Given the description of an element on the screen output the (x, y) to click on. 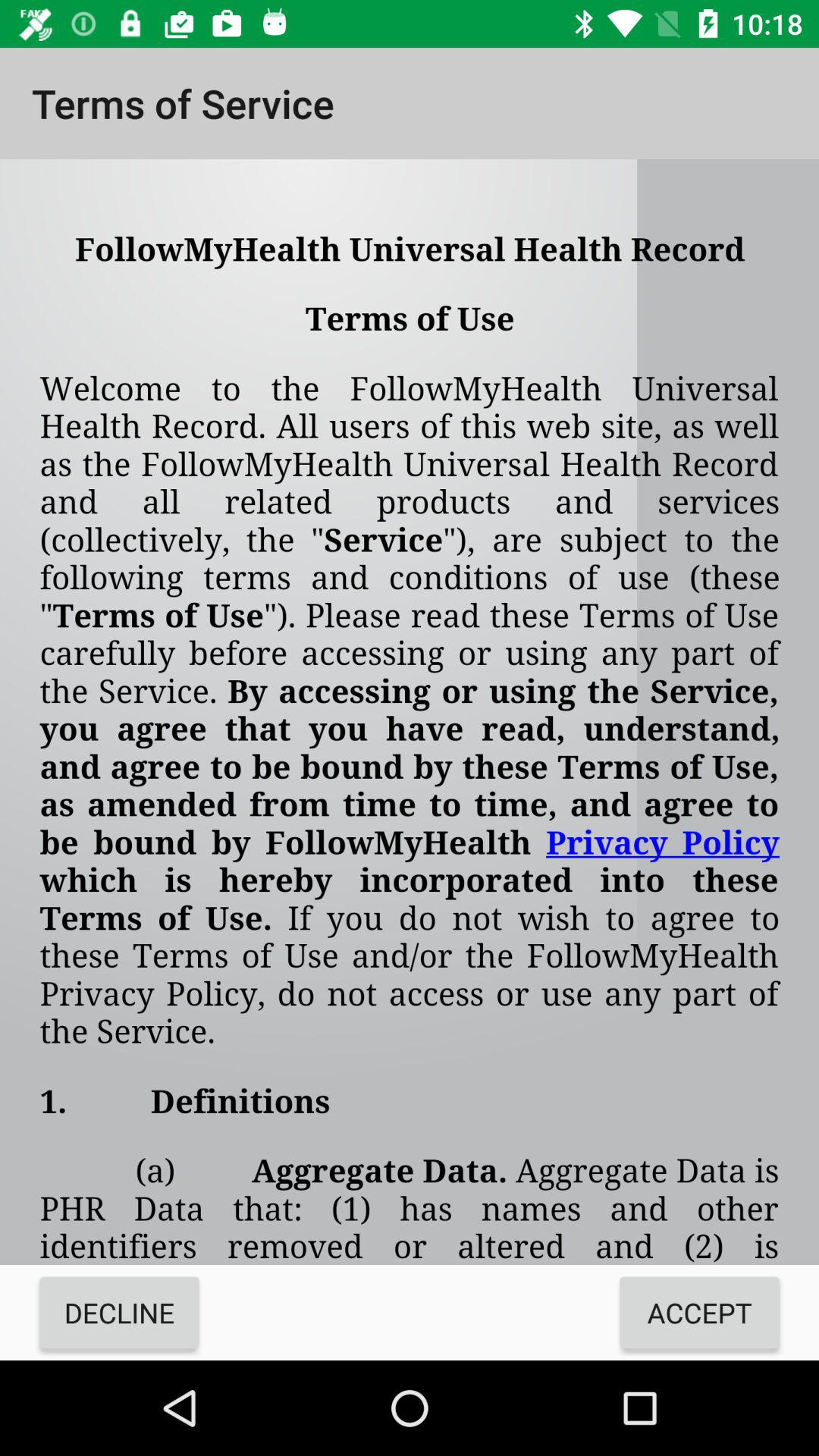
read the terms of use (409, 711)
